Given the description of an element on the screen output the (x, y) to click on. 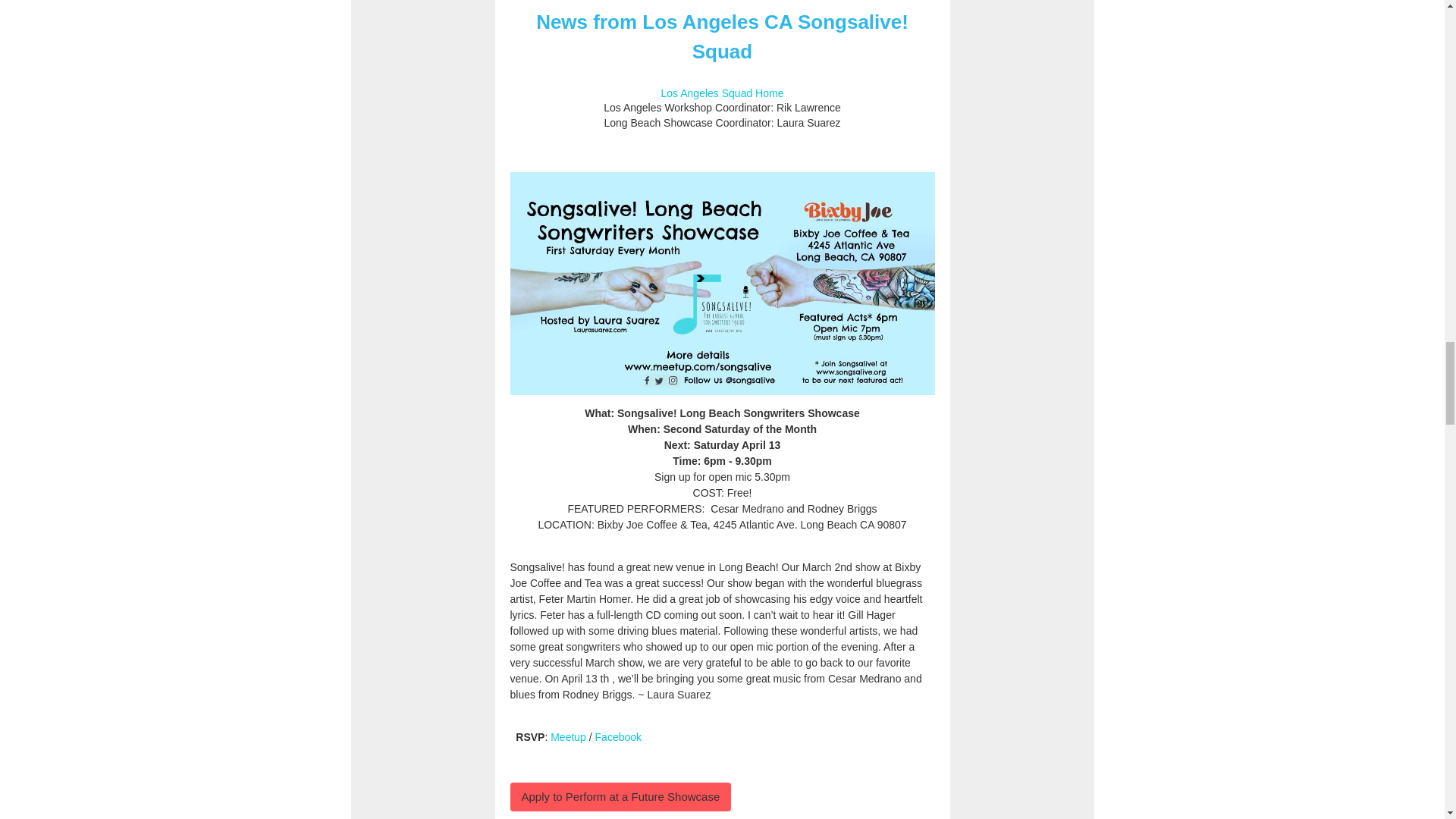
Meetup (568, 736)
Facebook (618, 736)
Los Angeles Squad Home (722, 92)
Apply to Perform at a Future Showcase (619, 796)
